Given the description of an element on the screen output the (x, y) to click on. 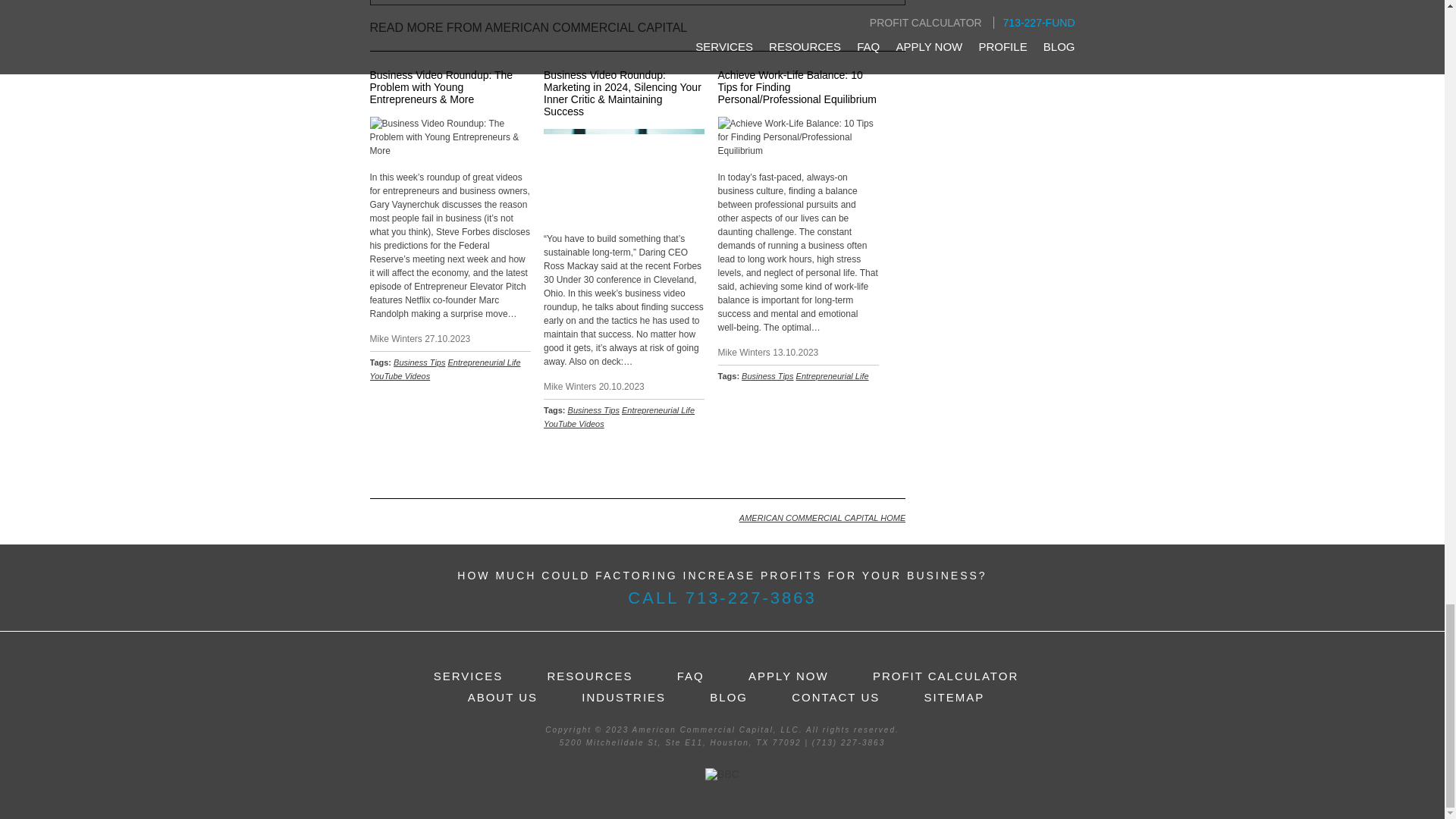
Back (887, 463)
Entrepreneurial Life (832, 375)
Entrepreneurial Life (657, 409)
YouTube Videos (399, 375)
AMERICAN COMMERCIAL CAPITAL HOME (822, 517)
Business Tips (767, 375)
Business Tips (419, 361)
YouTube Videos (573, 423)
Entrepreneurial Life (484, 361)
Business Tips (593, 409)
